Given the description of an element on the screen output the (x, y) to click on. 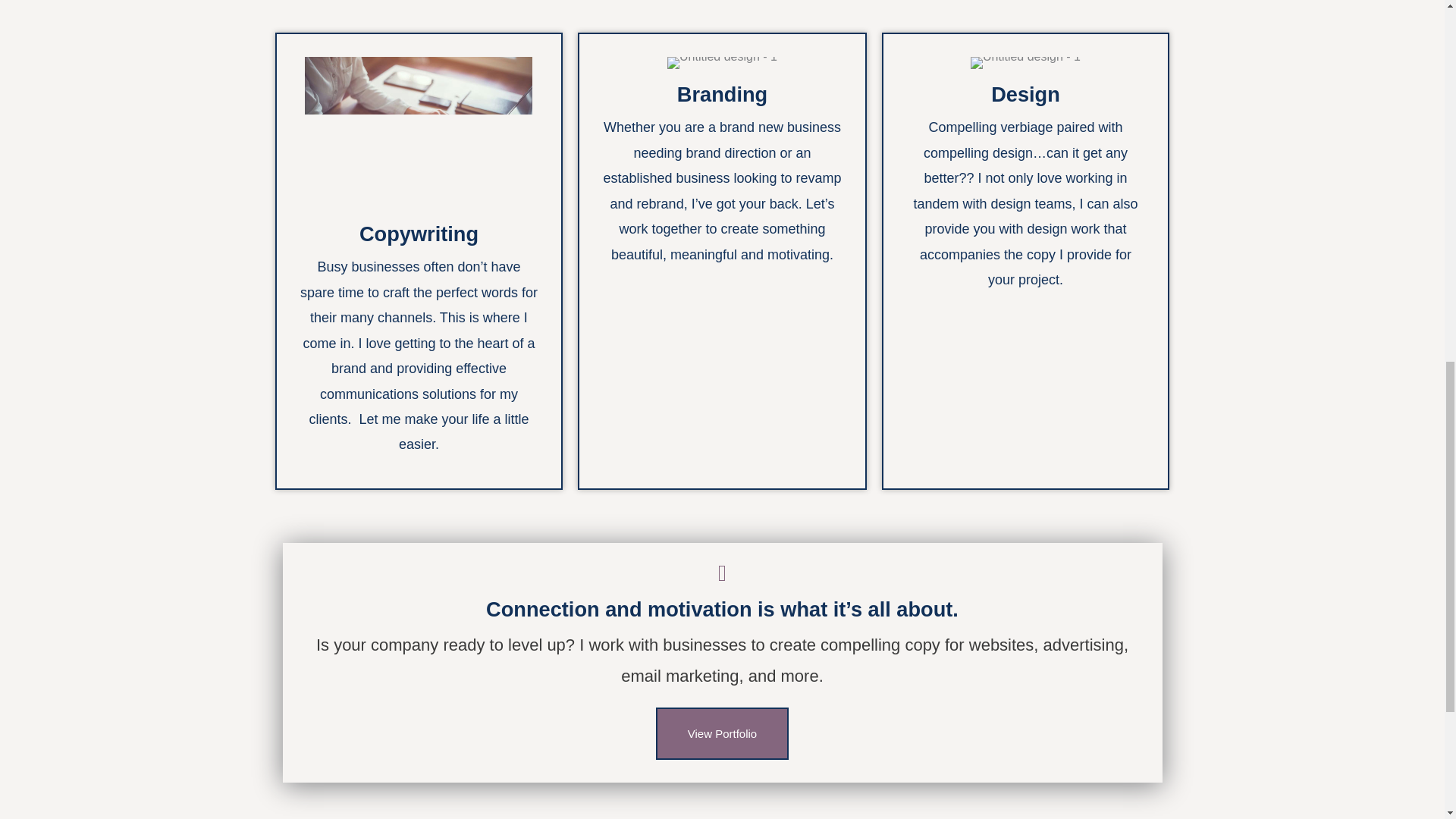
Untitled design - 1 (1025, 62)
Click Here (722, 733)
Untitled design - 1 (418, 132)
Untitled design - 1 (721, 62)
View Portfolio (722, 733)
